Given the description of an element on the screen output the (x, y) to click on. 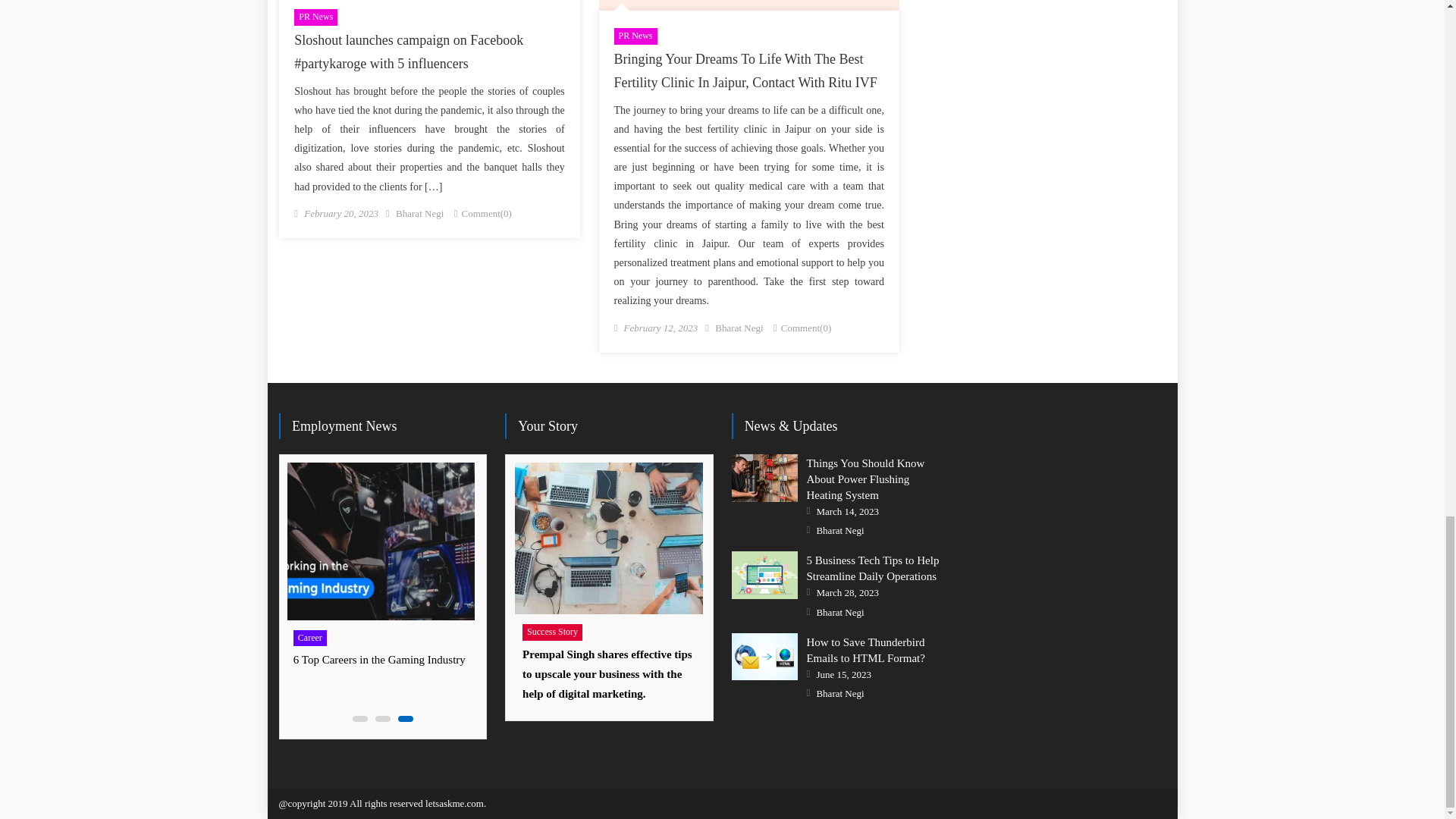
6 Top Careers in the Gaming Industry (379, 540)
PR News (315, 17)
